Given the description of an element on the screen output the (x, y) to click on. 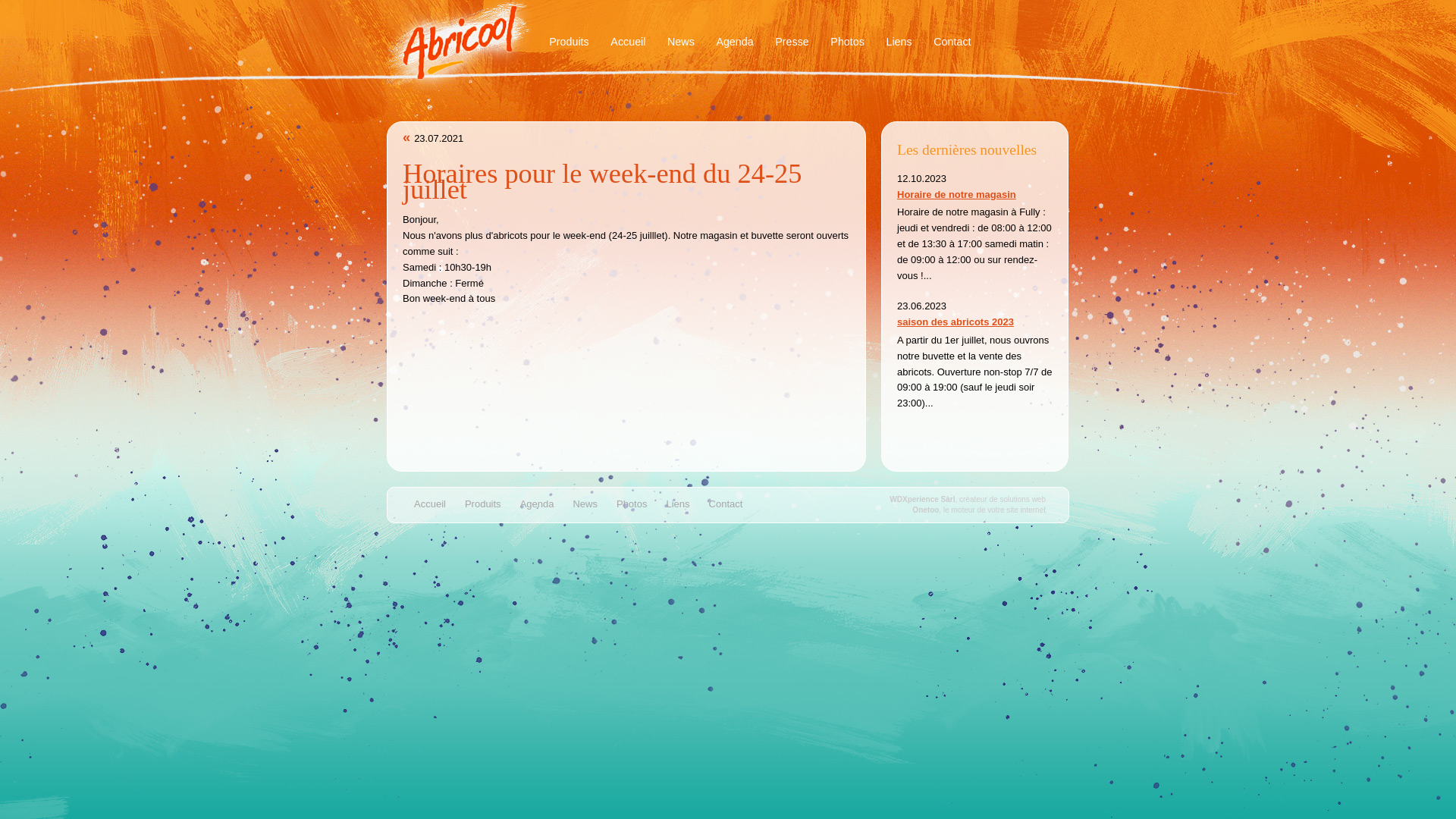
Presse Element type: text (791, 41)
News Element type: text (680, 41)
Produits Element type: text (568, 41)
saison des abricots 2023 Element type: text (955, 321)
Agenda Element type: text (538, 504)
le moteur de votre site internet Element type: text (994, 509)
Produits Element type: text (484, 504)
Agenda Element type: text (734, 41)
Liens Element type: text (679, 504)
Photos Element type: text (847, 41)
Contact Element type: text (952, 41)
Accueil Element type: text (627, 41)
Onetoo Element type: text (925, 509)
Horaire de notre magasin Element type: text (956, 194)
Liens Element type: text (898, 41)
News Element type: text (586, 504)
Accueil Element type: text (431, 504)
Contact Element type: text (727, 504)
Photos Element type: text (633, 504)
